Given the description of an element on the screen output the (x, y) to click on. 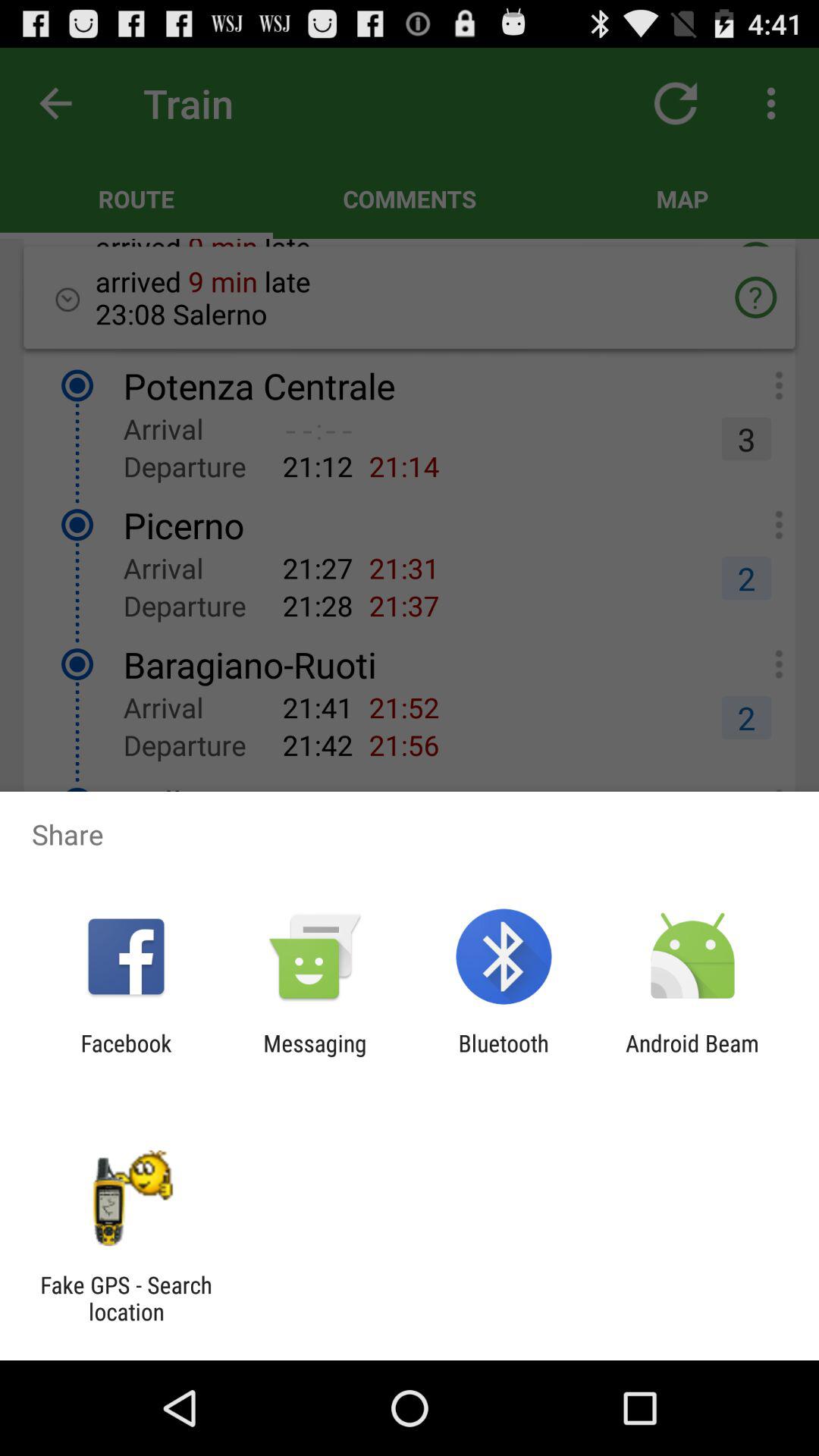
tap icon next to the bluetooth (692, 1056)
